Given the description of an element on the screen output the (x, y) to click on. 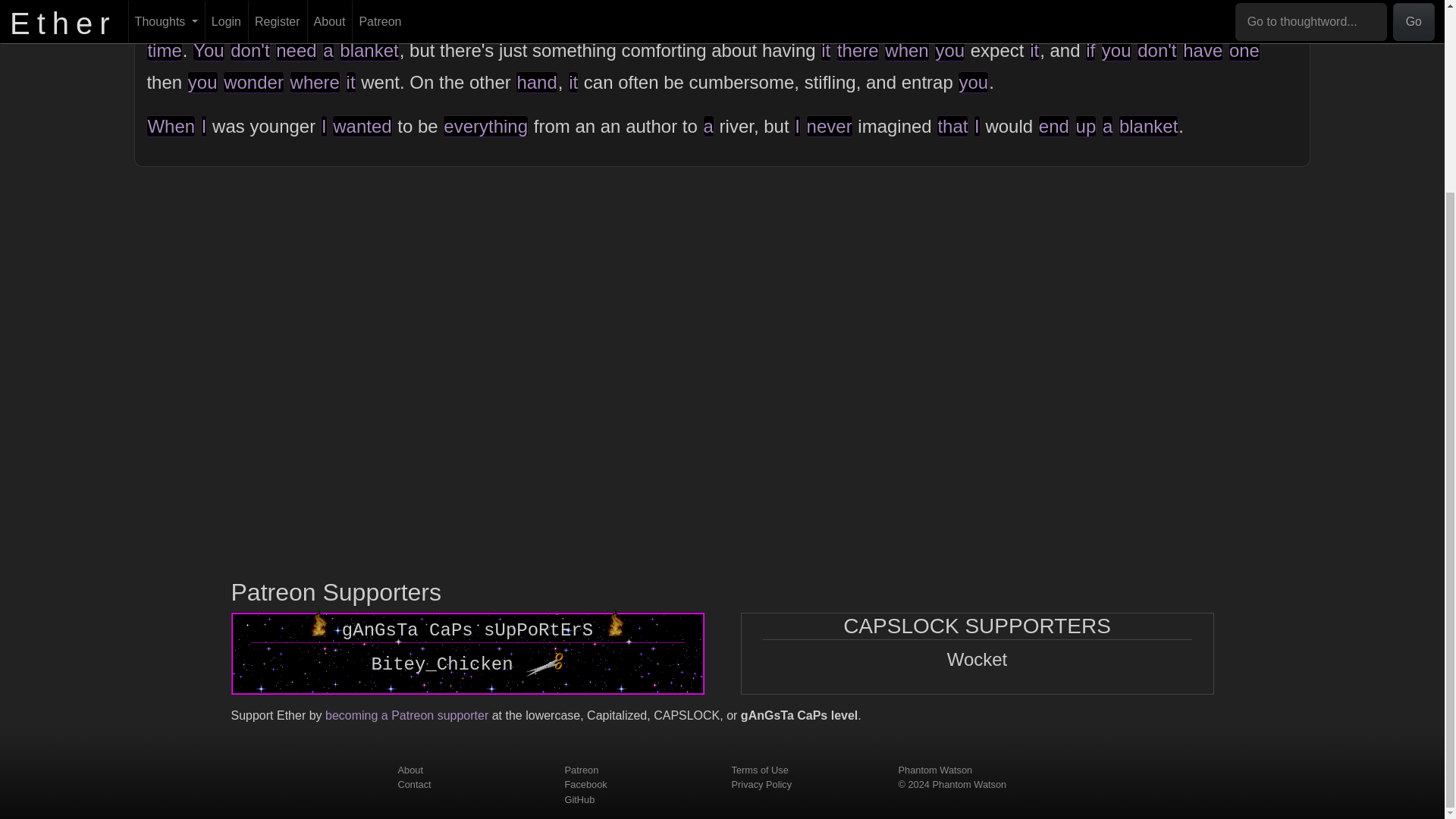
time (164, 50)
you (949, 50)
place (748, 18)
You (208, 50)
what (672, 18)
don't (1156, 50)
blanket (368, 50)
need (296, 50)
there (857, 50)
